Given the description of an element on the screen output the (x, y) to click on. 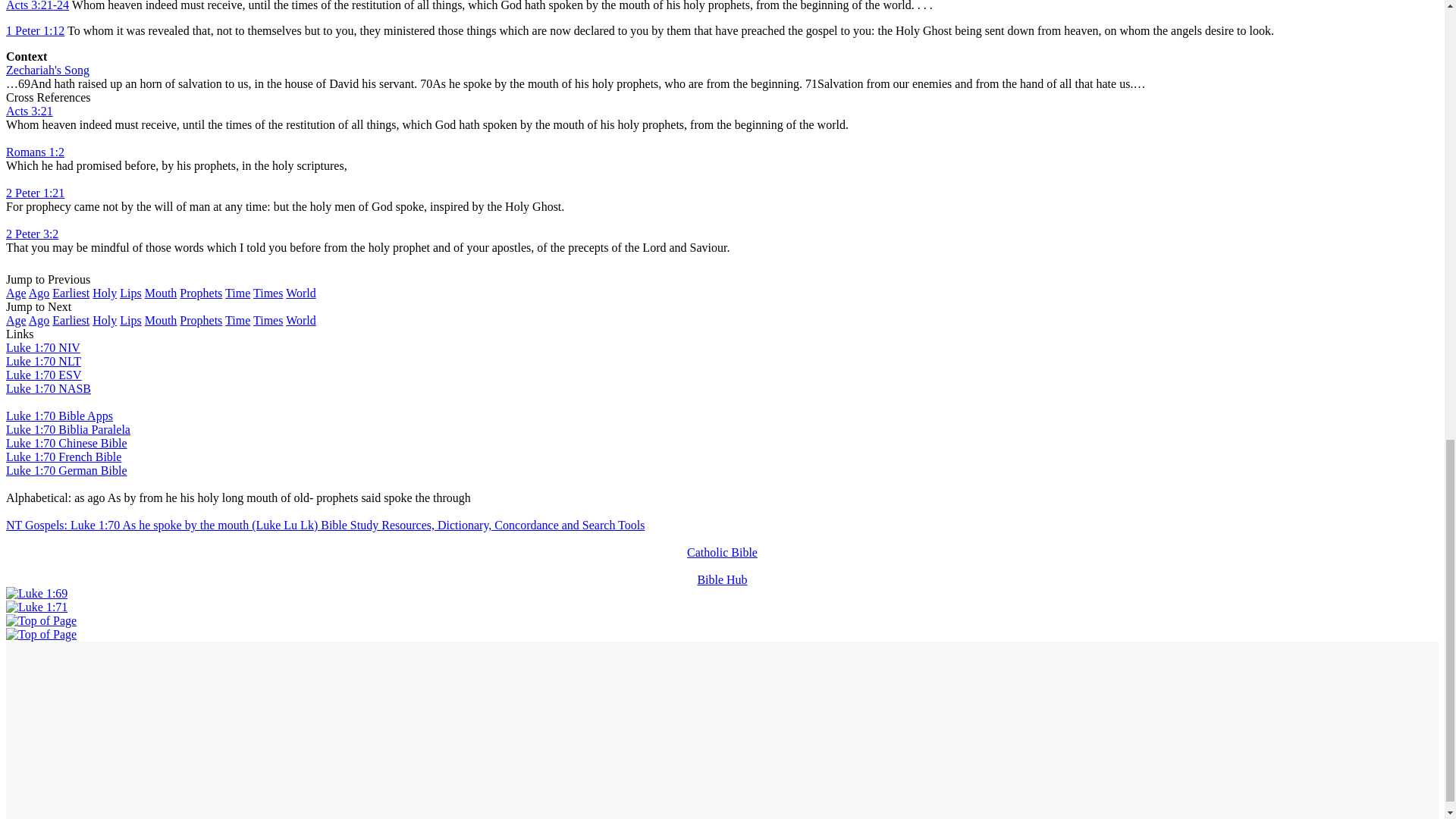
Romans 1:2 (34, 151)
Acts 3:21-24 (36, 5)
Earliest (70, 292)
Lips (130, 292)
1 Peter 1:12 (34, 30)
Age (15, 292)
Mouth (160, 292)
Ago (39, 292)
Luke 1:71 (35, 606)
Top of Page (41, 634)
